Given the description of an element on the screen output the (x, y) to click on. 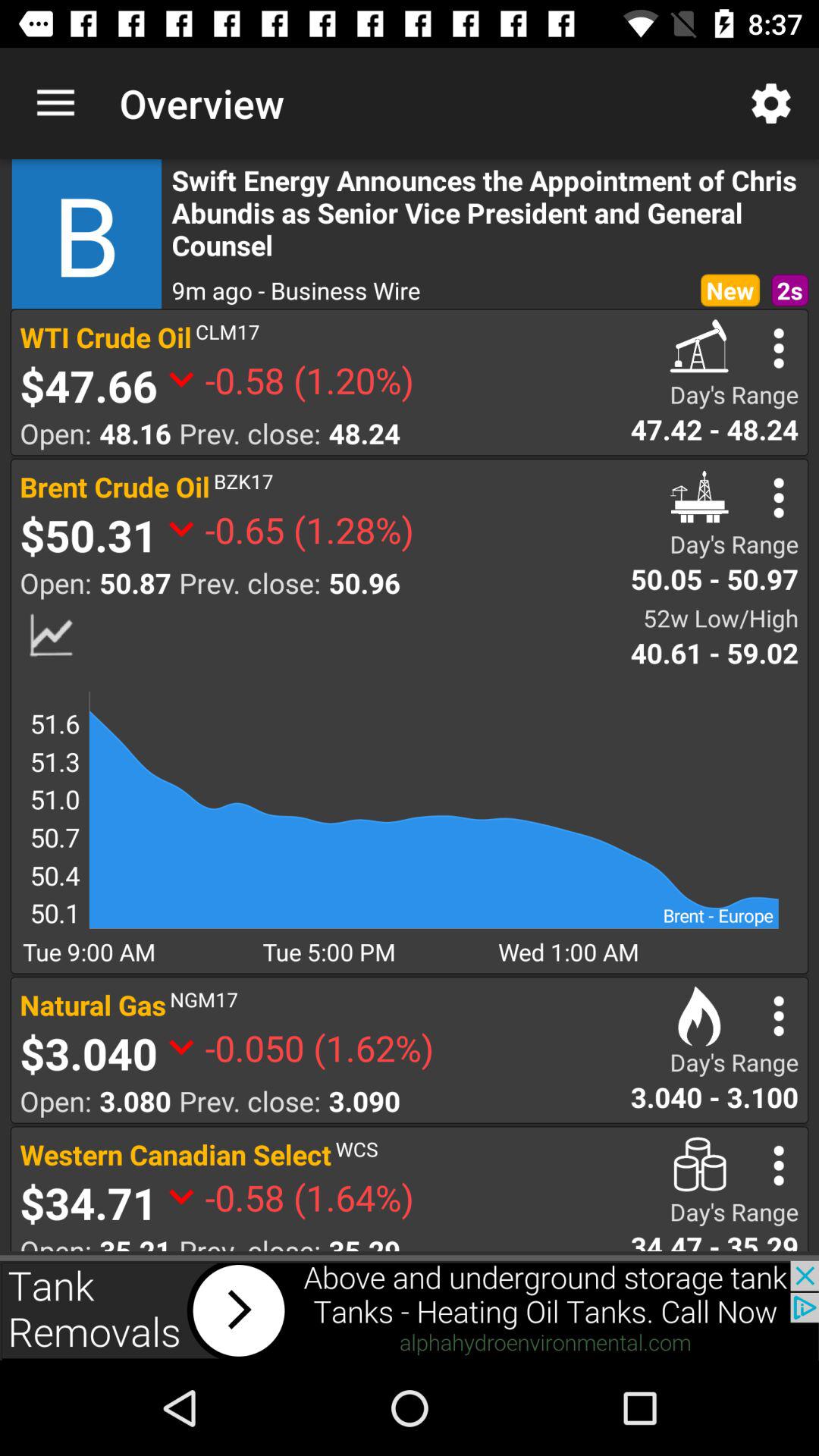
view details (778, 1015)
